Given the description of an element on the screen output the (x, y) to click on. 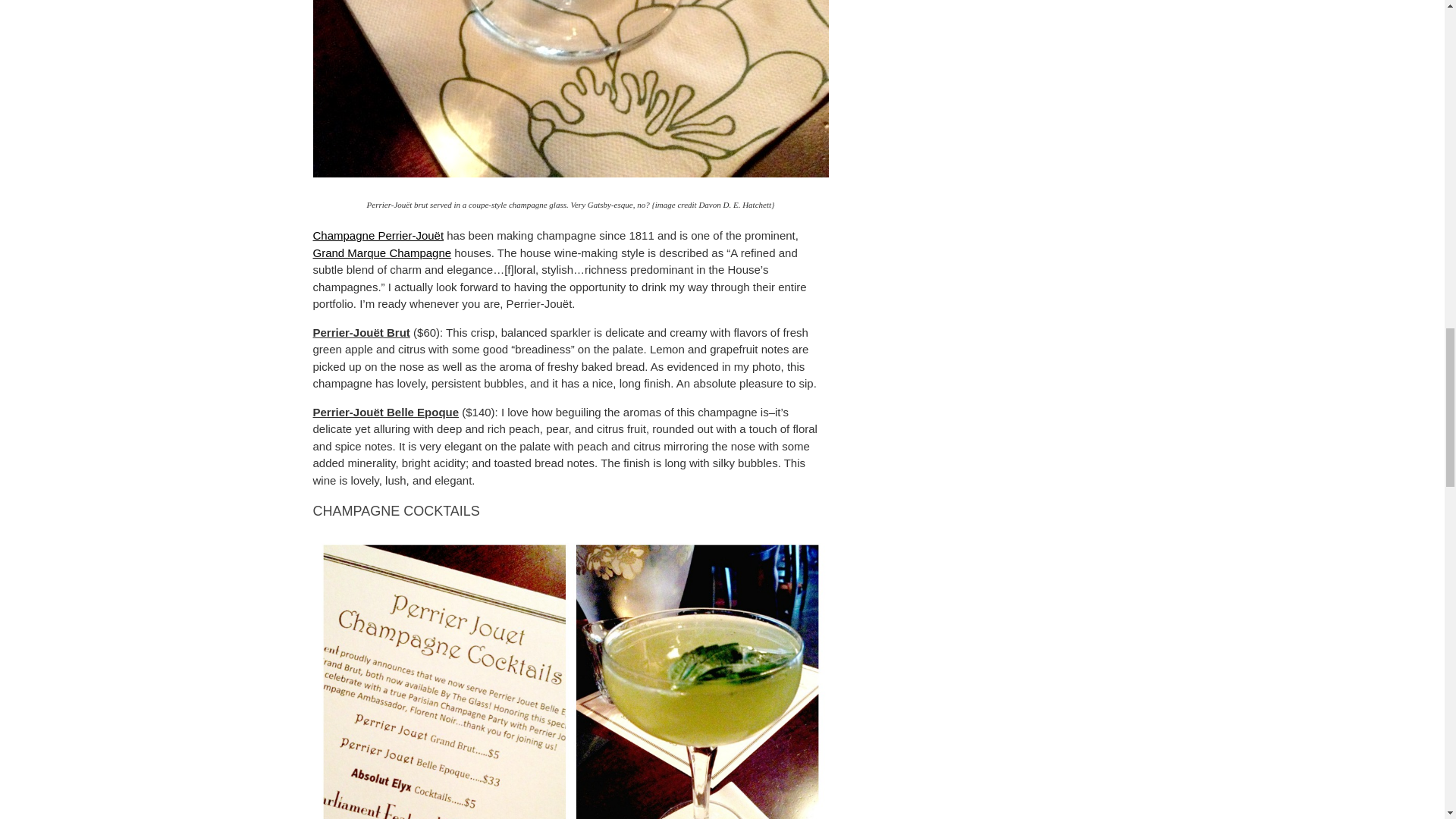
Grand Marque Champagne House Wikipedia (382, 252)
Grand Marque Champagne (382, 252)
Perrier Jouet website (378, 235)
